Given the description of an element on the screen output the (x, y) to click on. 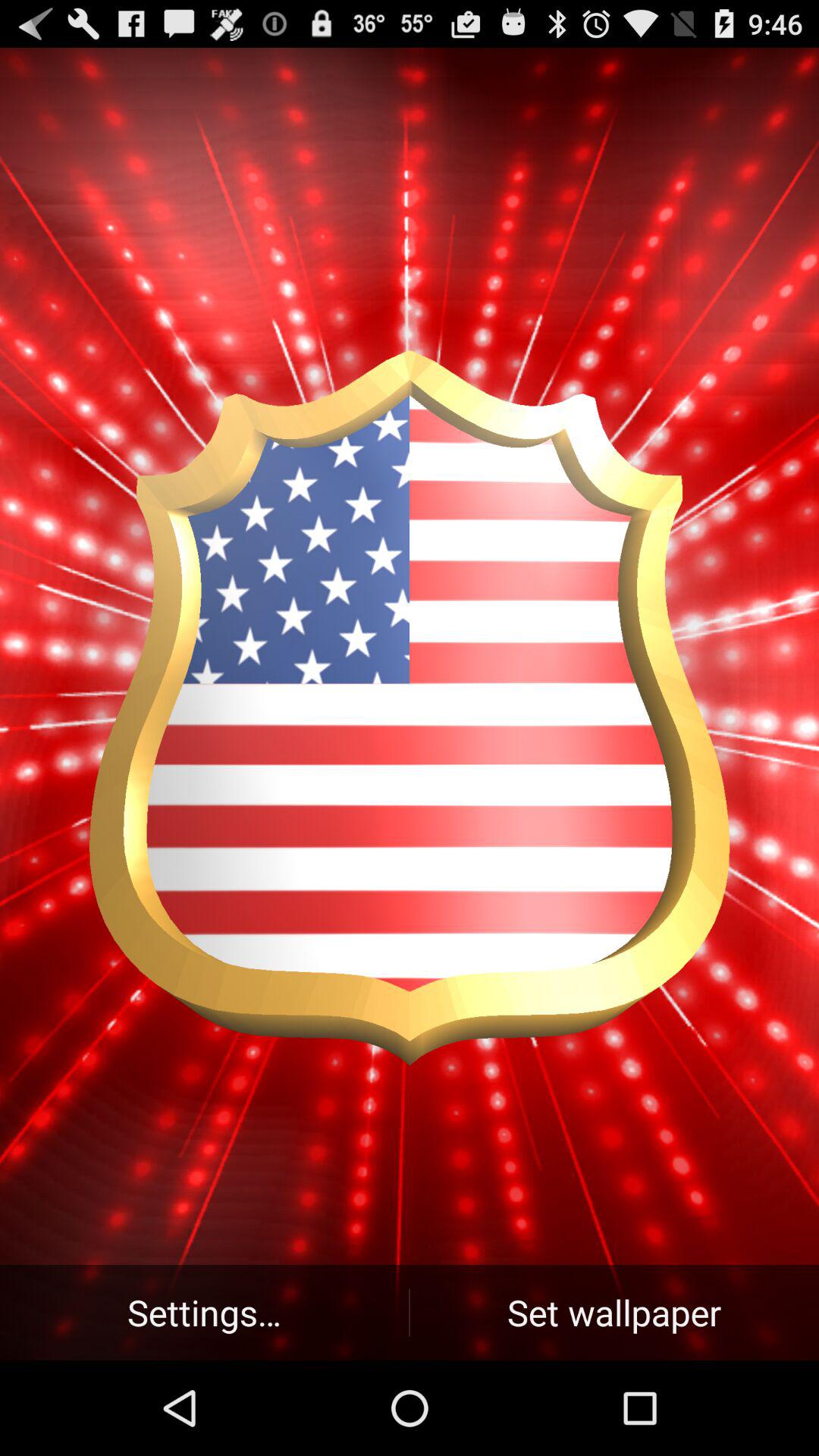
scroll to set wallpaper button (614, 1312)
